Given the description of an element on the screen output the (x, y) to click on. 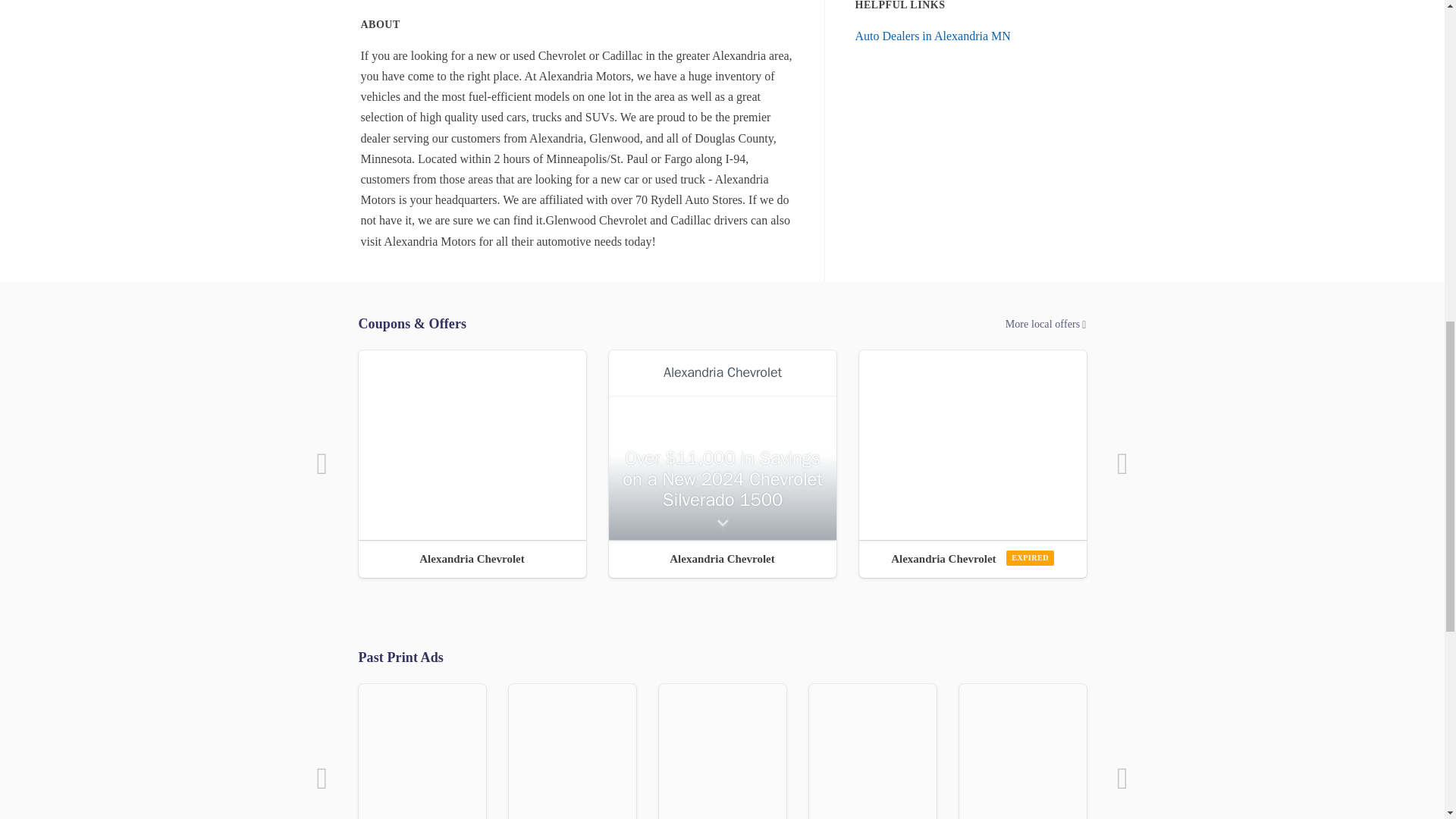
Alexandria Chevrolet (471, 558)
Alexandria Chevrolet (972, 558)
Origami Widget Number: 1906872 (972, 444)
Origami Widget Number: 2005597 (721, 444)
Origami Widget Number: 2008616 (471, 444)
Alexandria Chevrolet (721, 558)
Auto Dealers in Alexandria MN (933, 35)
More local offers (722, 324)
